Given the description of an element on the screen output the (x, y) to click on. 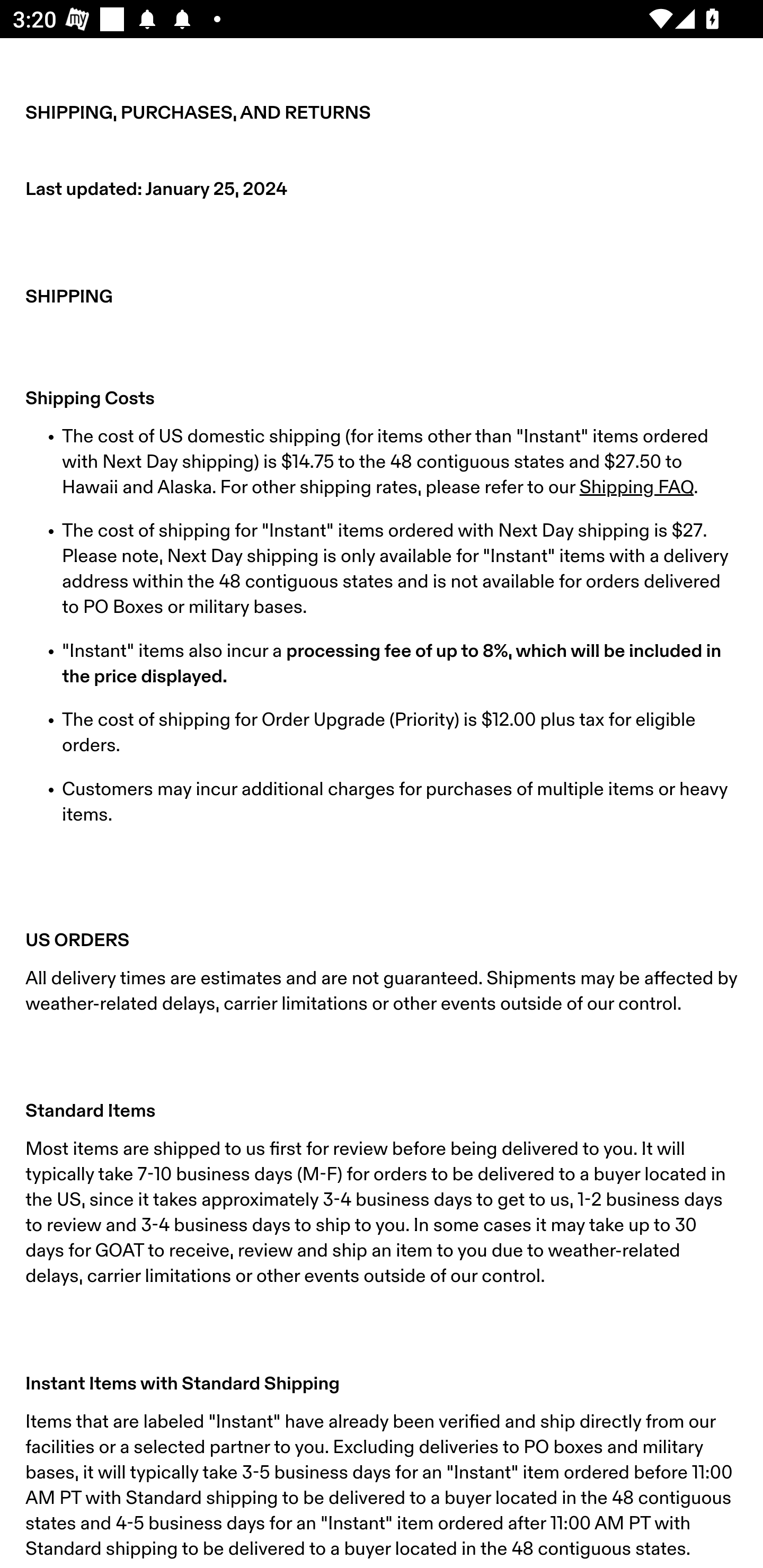
Shipping FAQ (636, 487)
